Given the description of an element on the screen output the (x, y) to click on. 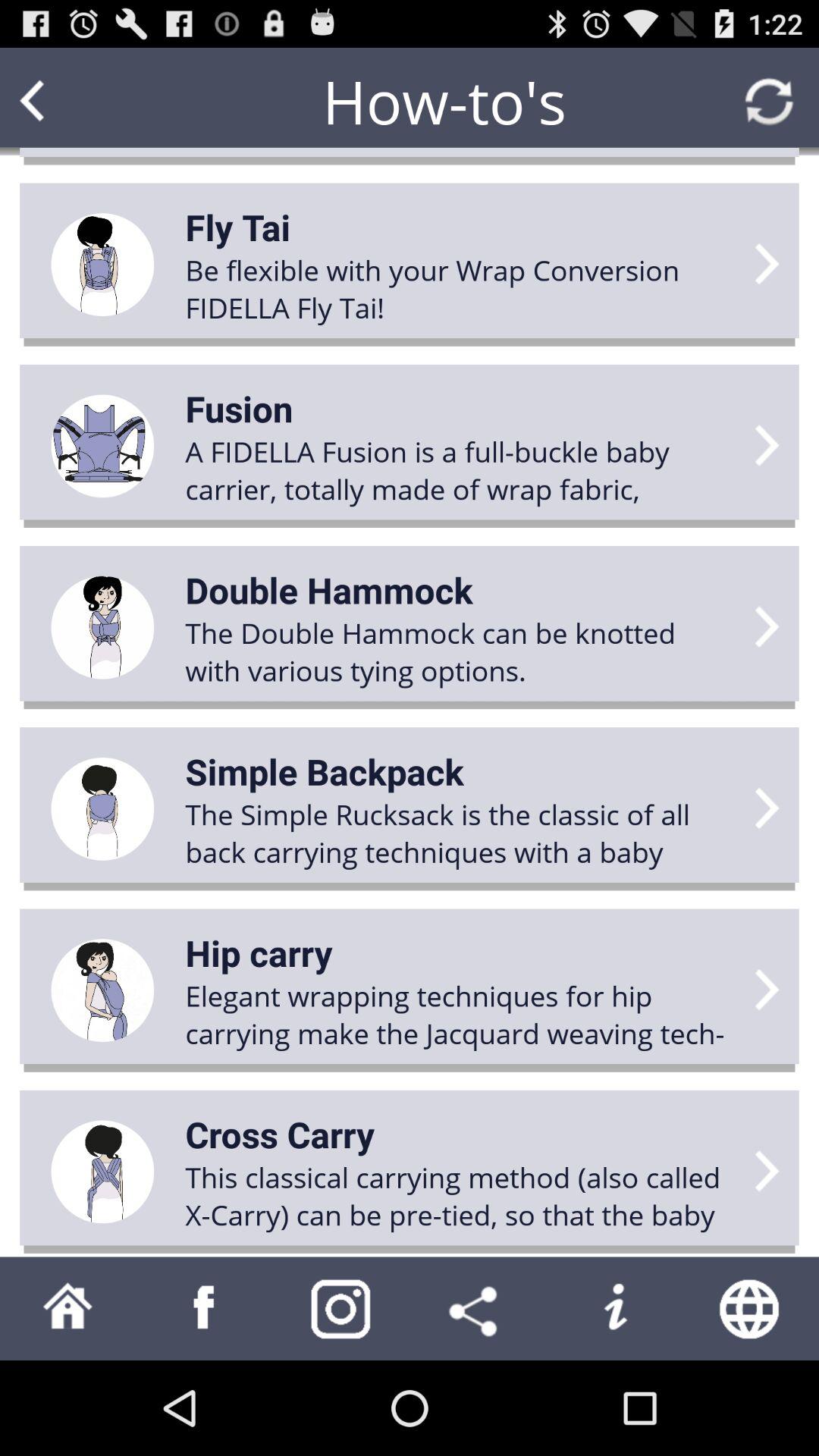
select home option (68, 1308)
